Given the description of an element on the screen output the (x, y) to click on. 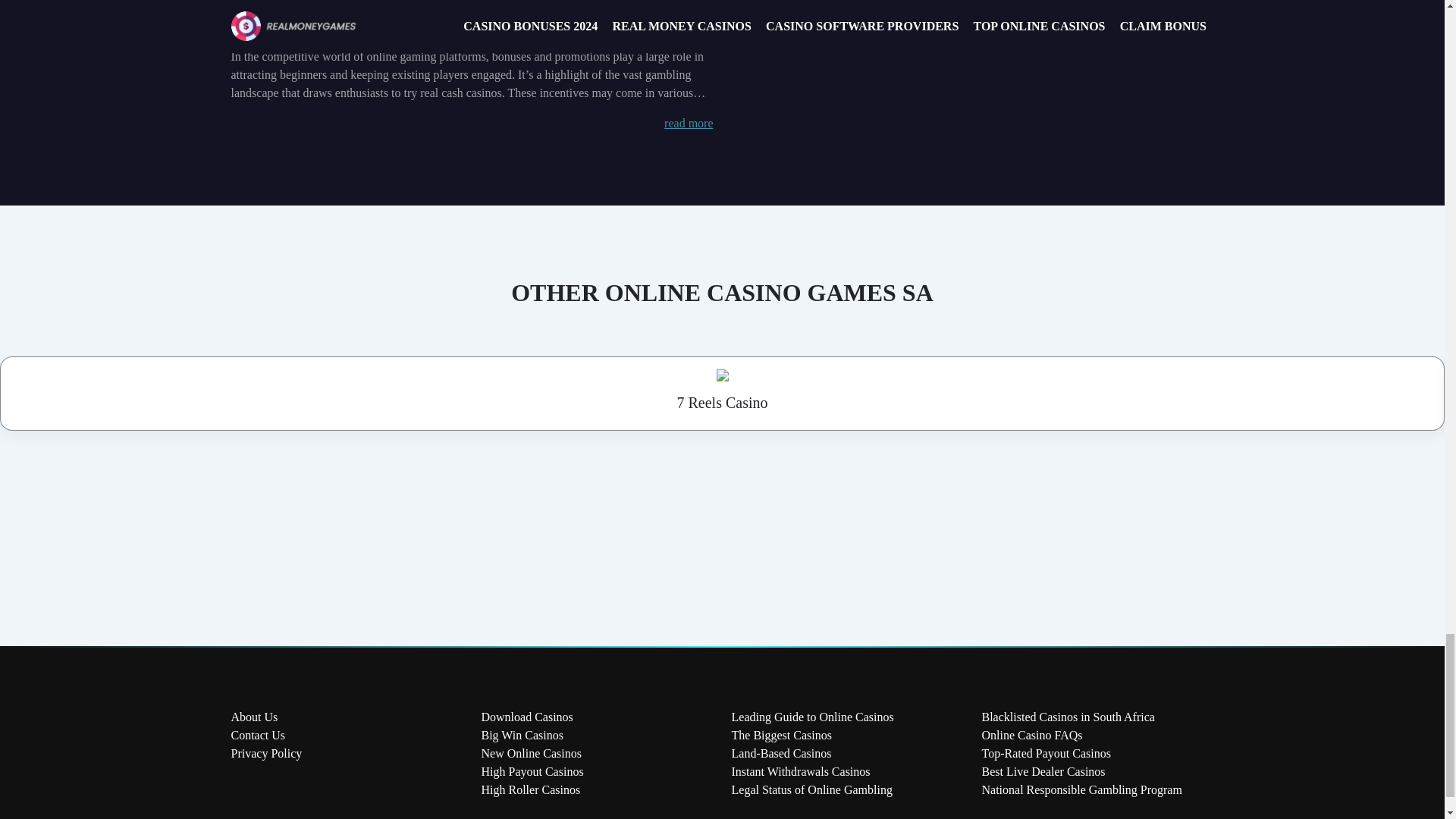
High Payout Casinos (531, 771)
High Roller Casinos (529, 789)
Blacklisted Casinos in South Africa (1067, 716)
Instant Withdrawals Casinos (799, 771)
New Online Casinos (530, 753)
Legal Status of Online Gambling (810, 789)
Top-Rated Payout Casinos (1045, 753)
Land-Based Casinos (780, 753)
Contact Us (257, 735)
National Responsible Gambling Program (1080, 789)
The Biggest Casinos (780, 735)
Online Casino FAQs (1031, 735)
About Us (254, 716)
Download Casinos (526, 716)
Big Win Casinos (521, 735)
